Given the description of an element on the screen output the (x, y) to click on. 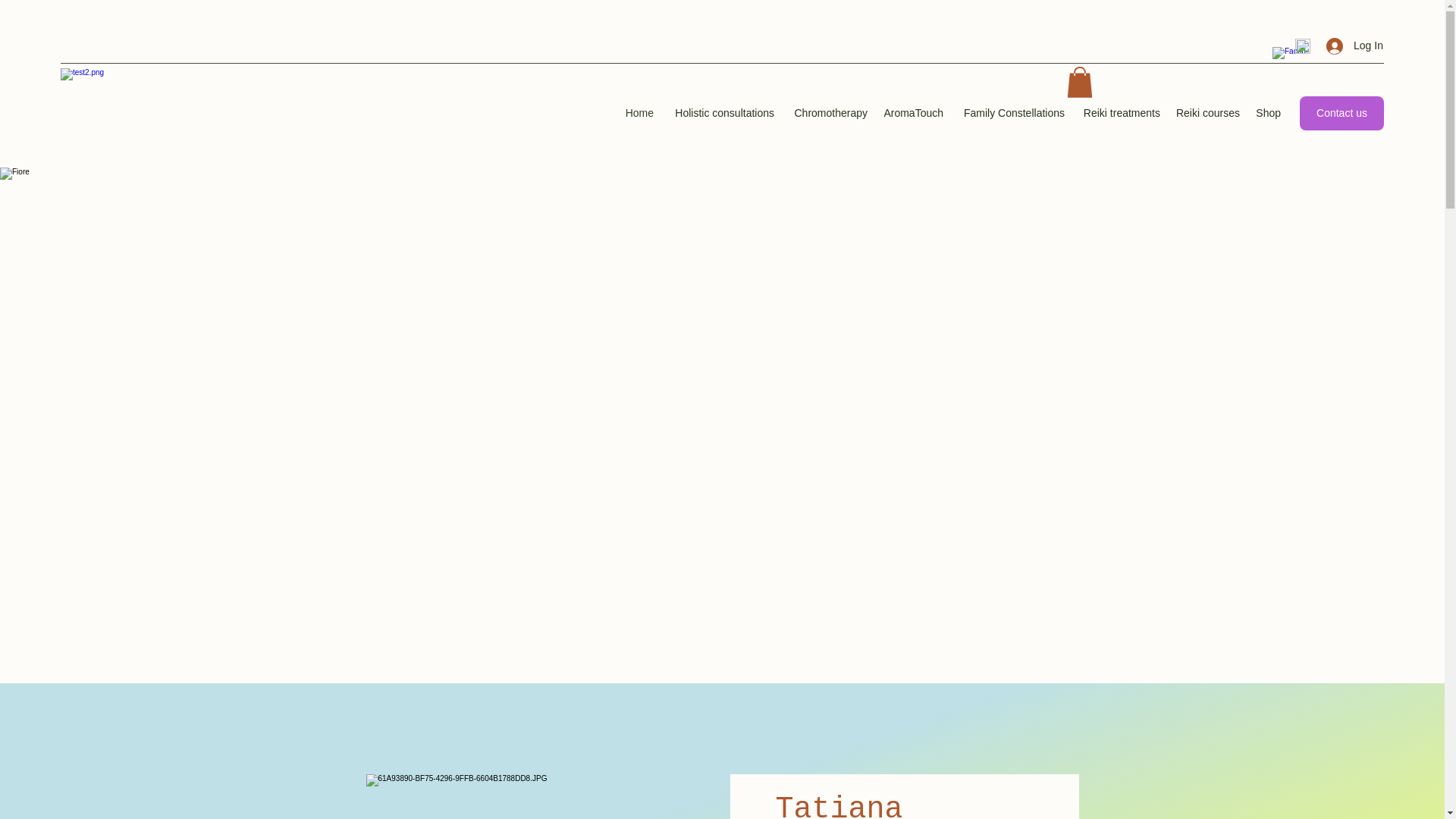
Chromotherapy (828, 113)
Reiki courses (1207, 113)
Reiki treatments (1119, 113)
Shop (1267, 113)
Holistic consultations (721, 113)
AromaTouch (912, 113)
Contact us (1342, 113)
Log In (1350, 45)
Family Constellations (1010, 113)
Home (638, 113)
